Given the description of an element on the screen output the (x, y) to click on. 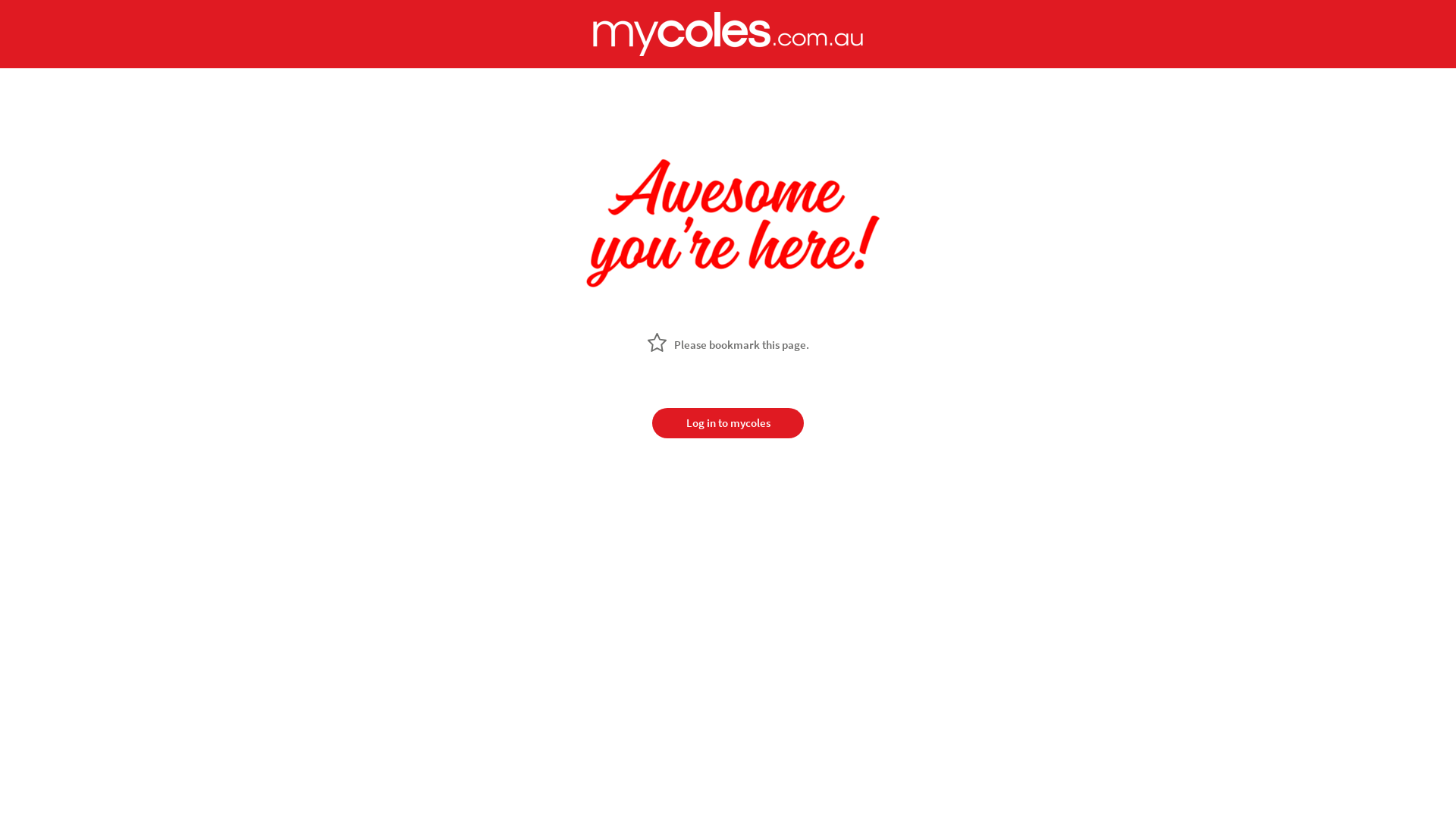
Log in to mycoles Element type: text (727, 422)
